Given the description of an element on the screen output the (x, y) to click on. 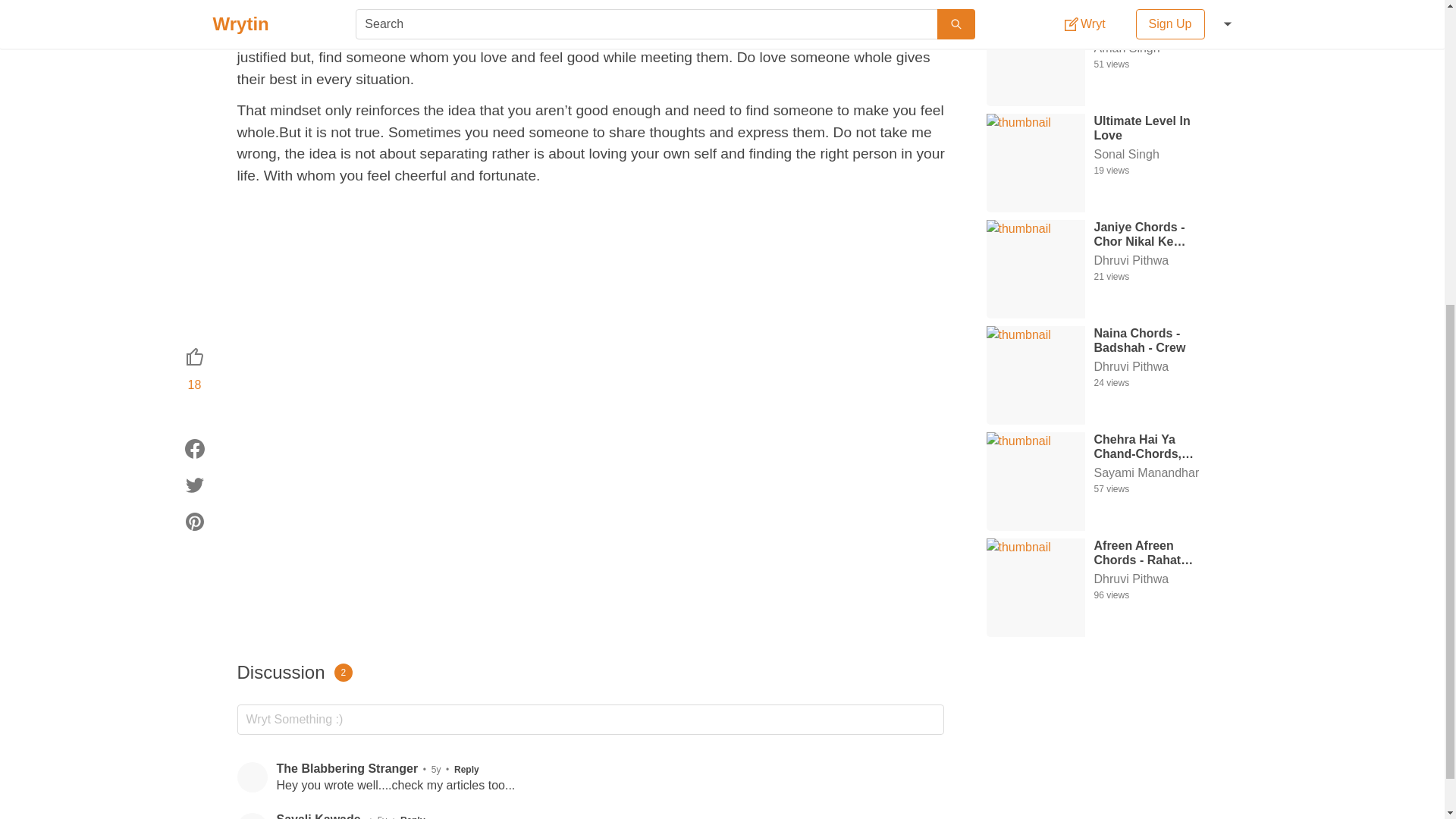
Aman Singh (1152, 48)
Sonal Singh (1152, 154)
Great Love Is Best Not Rushed (1152, 21)
Sonal Singh (1152, 154)
Dhruvi Pithwa  (1152, 260)
Dhruvi Pithwa (1152, 260)
Ultimate Level In Love (1152, 127)
Aman Singh (1152, 48)
Naina Chords - Badshah - Crew (1152, 339)
Great Love Is Best Not Rushed (1152, 21)
